Given the description of an element on the screen output the (x, y) to click on. 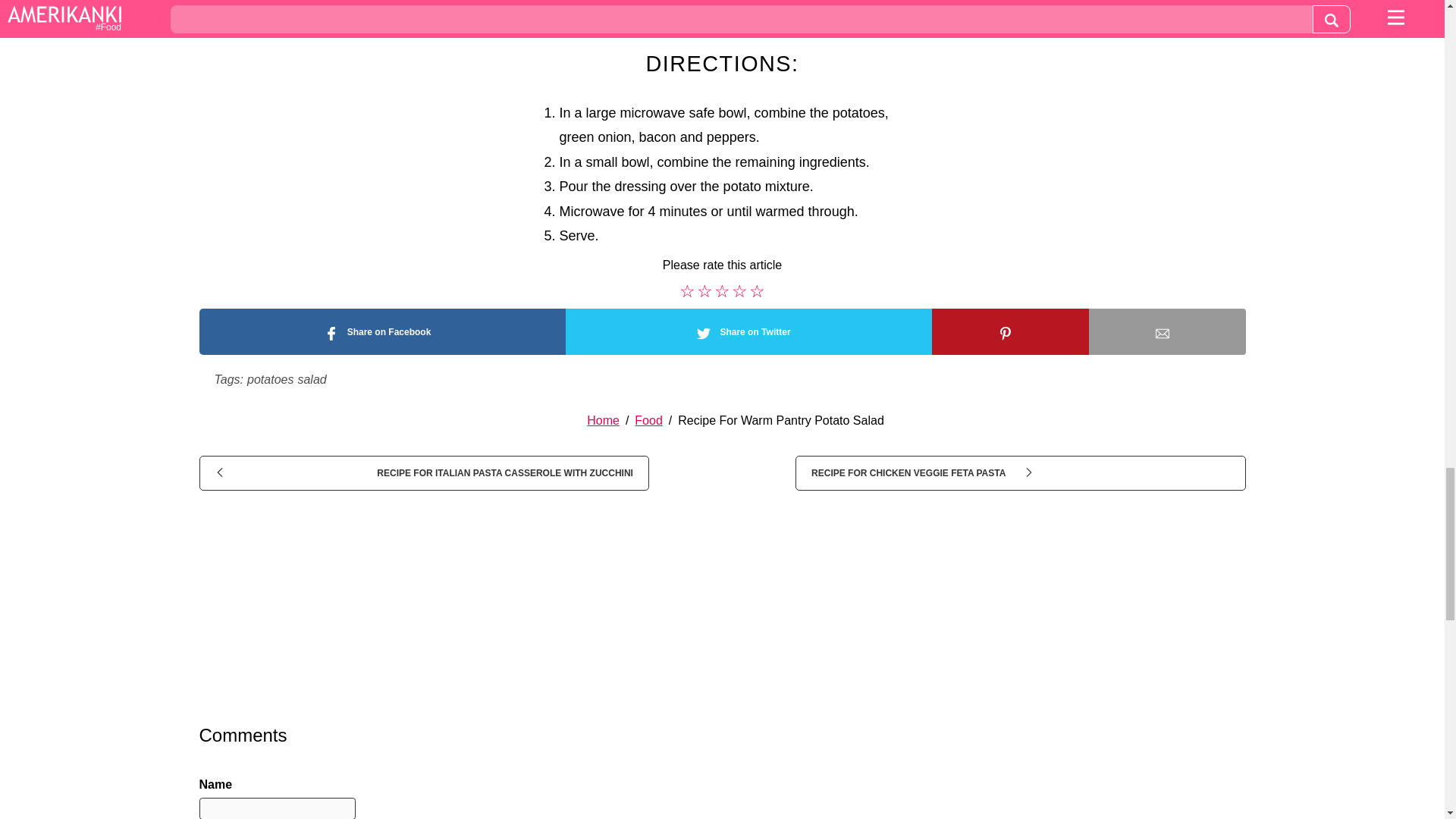
RECIPE FOR ITALIAN PASTA CASSEROLE WITH ZUCCHINI (422, 472)
Food (648, 420)
RECIPE FOR CHICKEN VEGGIE FETA PASTA (1019, 472)
Share on Twitter (748, 331)
Share on Facebook (381, 331)
Home (603, 420)
Recipe For Chicken Veggie Feta Pasta (1019, 472)
Recipe For Italian Pasta Casserole with Zucchini (422, 472)
